Given the description of an element on the screen output the (x, y) to click on. 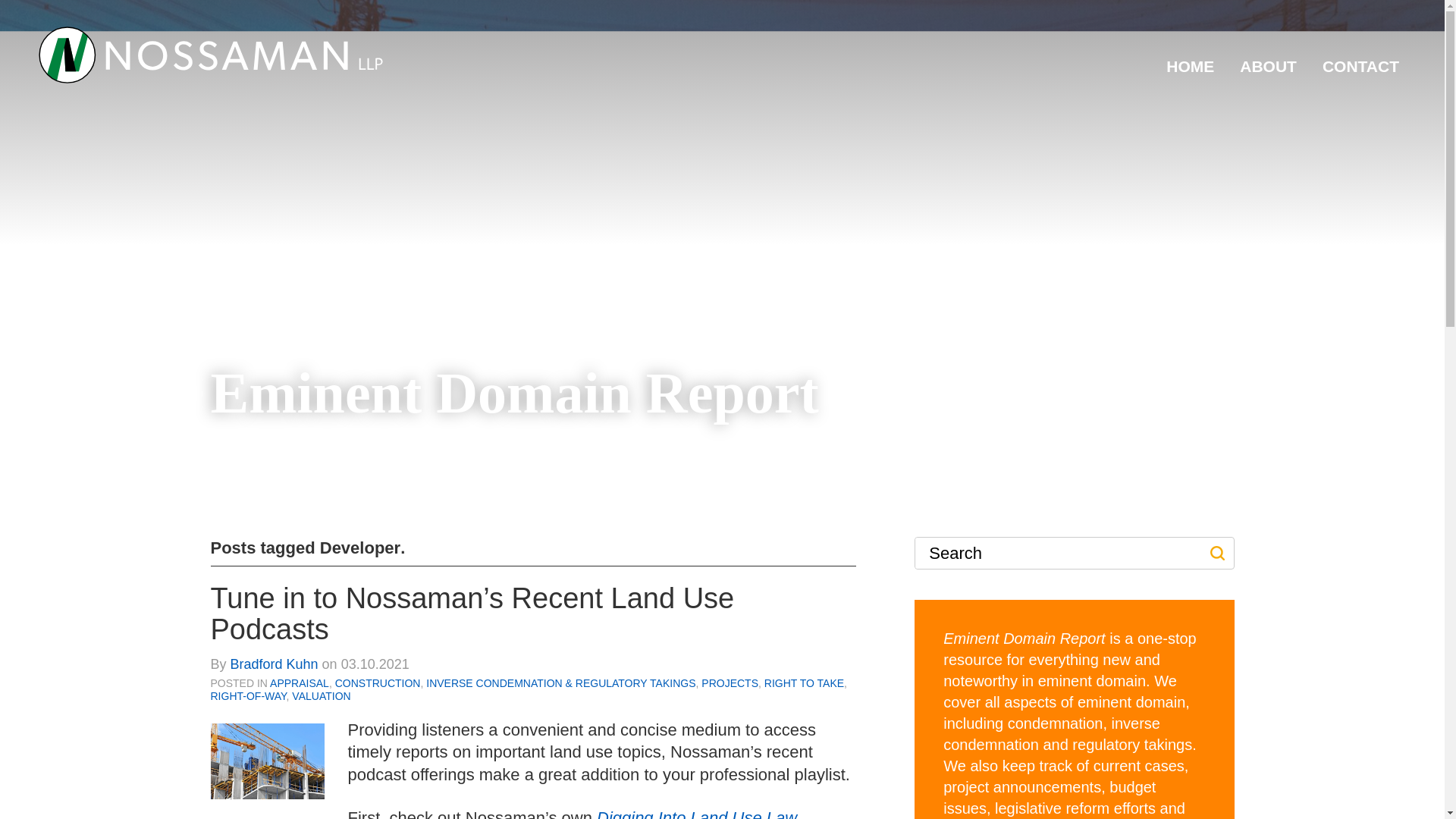
Digging Into Land Use Law (696, 813)
RIGHT TO TAKE (804, 683)
VALUATION (321, 695)
PROJECTS (729, 683)
Bradford Kuhn (274, 663)
CONSTRUCTION (377, 683)
APPRAISAL (299, 683)
RIGHT-OF-WAY (248, 695)
